Given the description of an element on the screen output the (x, y) to click on. 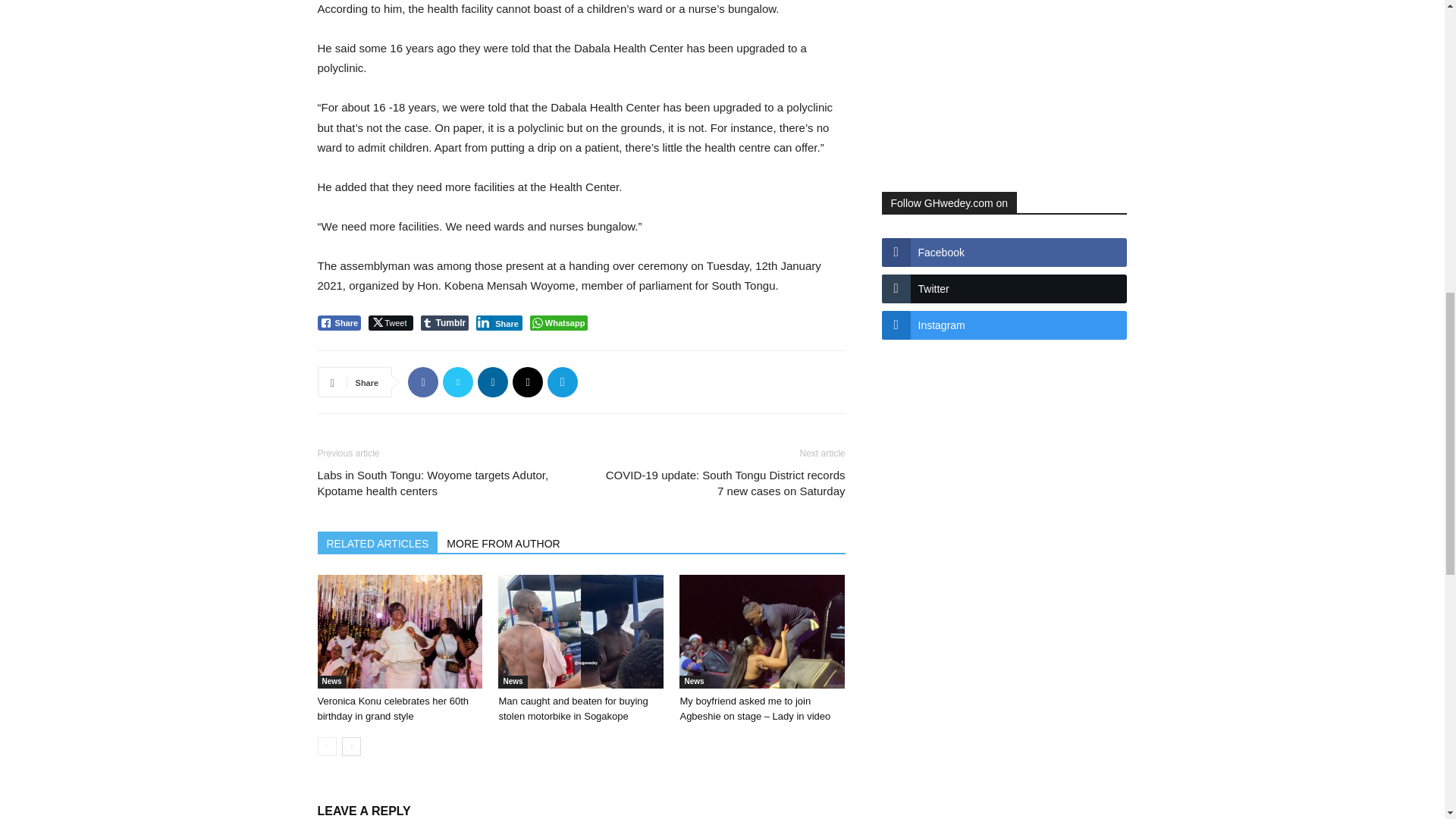
Veronica Konu celebrates her 60th birthday in grand style (399, 631)
